Given the description of an element on the screen output the (x, y) to click on. 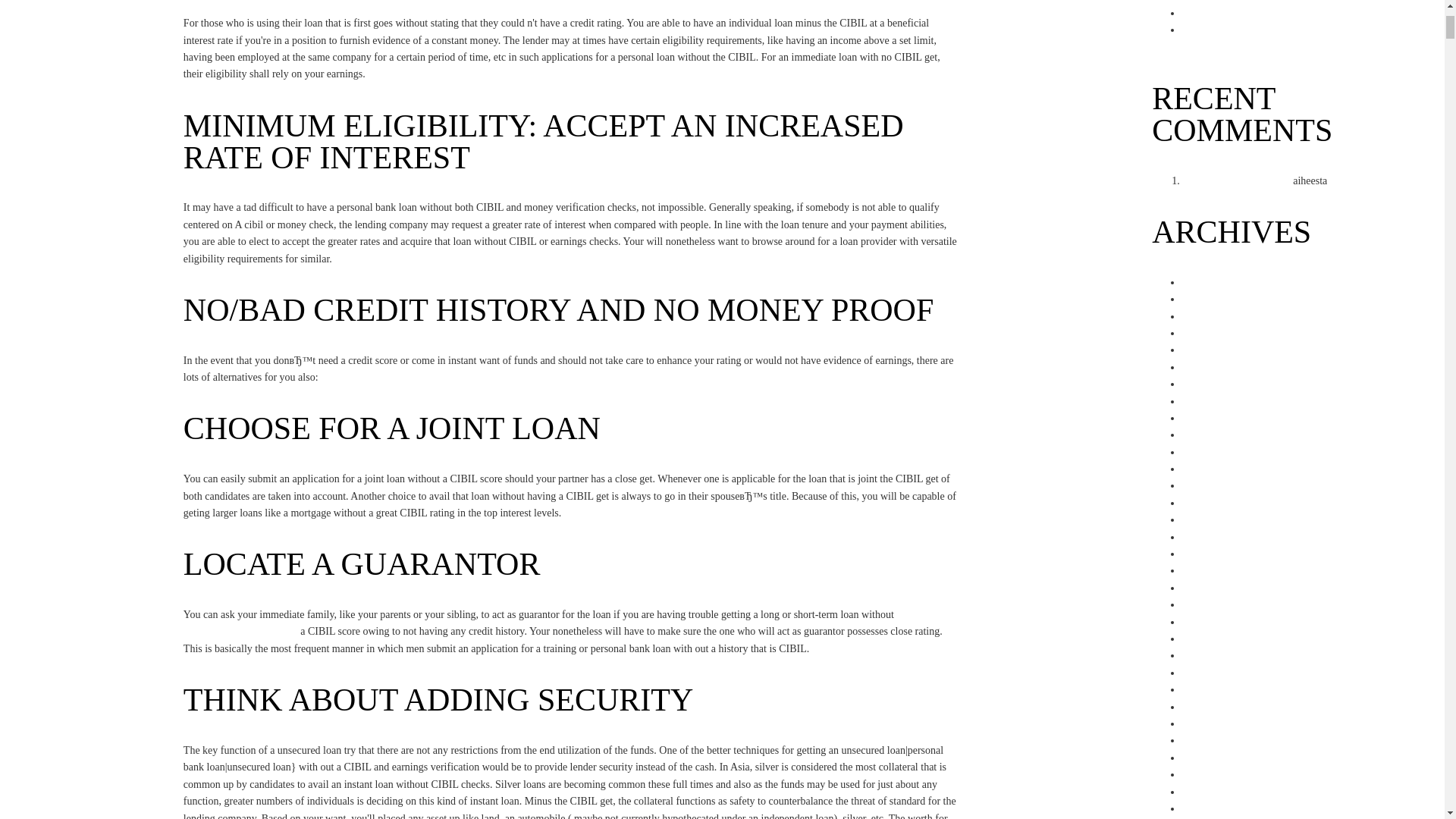
helmikuu 2024 (1214, 367)
huhtikuu 2024 (1212, 333)
Hello world! (1357, 180)
tammikuu 2024 (1215, 383)
maaliskuu 2023 (1215, 553)
joulukuu 2023 (1212, 401)
huhtikuu 2023 (1212, 536)
elokuu 2023 (1208, 469)
Secrets About Secure Exness Platform (1263, 12)
toukokuu 2023 (1214, 519)
